Given the description of an element on the screen output the (x, y) to click on. 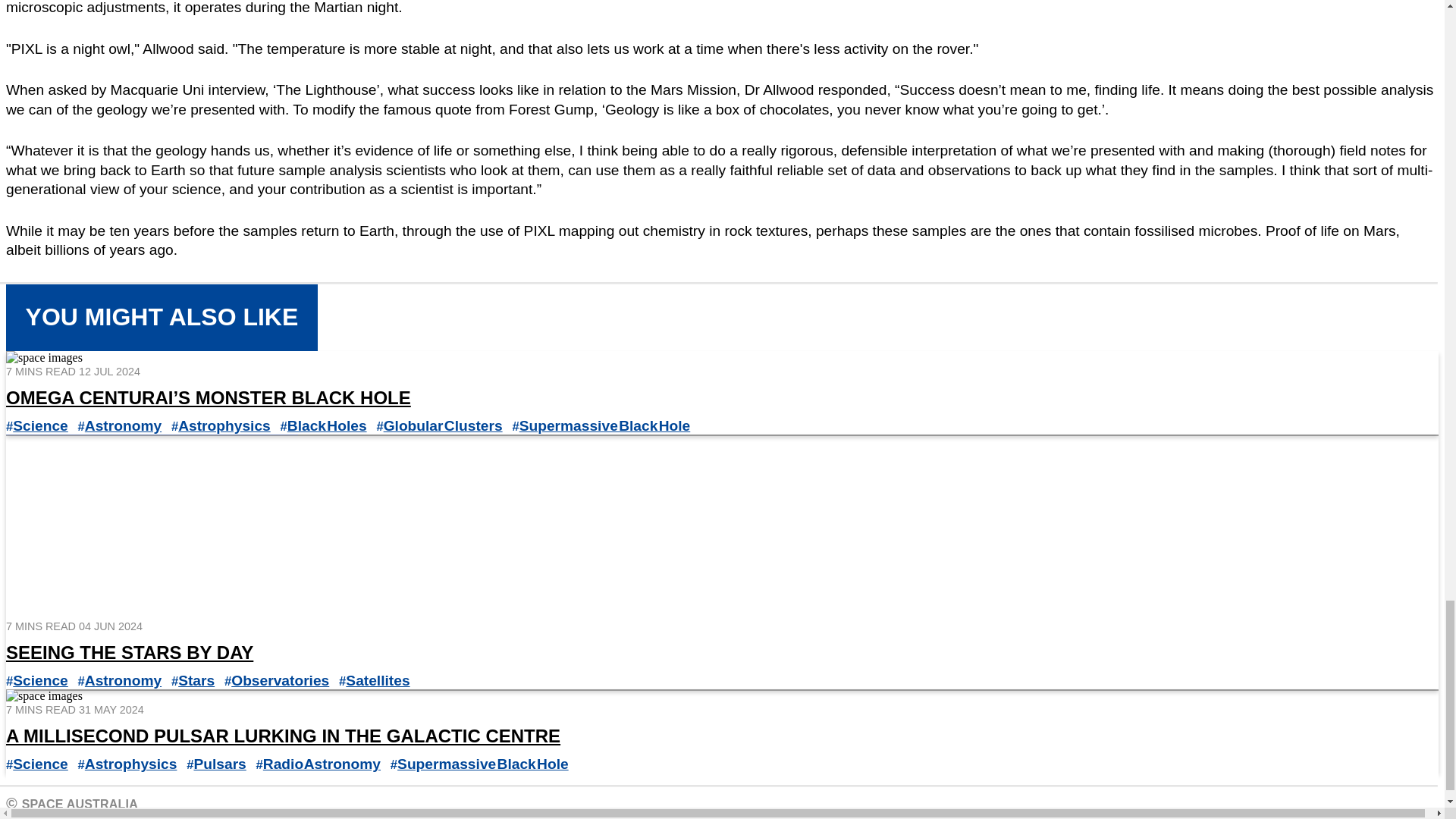
Astronomy (122, 425)
Supermassive Black Hole (604, 425)
Science (40, 425)
Globular Clusters (443, 425)
Black Holes (326, 425)
Astrophysics (223, 425)
